Given the description of an element on the screen output the (x, y) to click on. 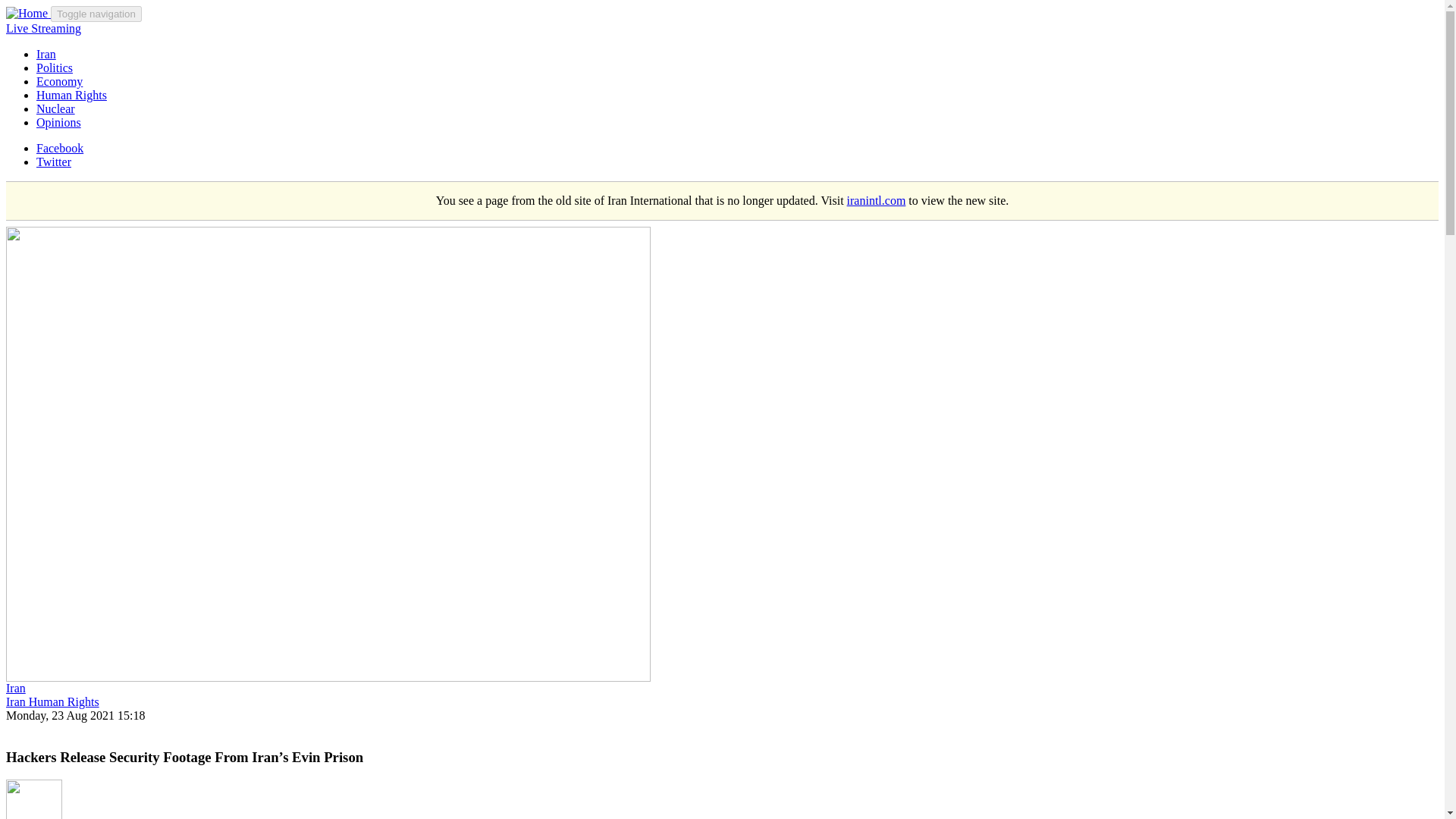
iranintl.com (876, 200)
Twitter (53, 161)
Iran Human Rights (52, 701)
Facebook (59, 147)
Human Rights (71, 94)
Opinions (58, 122)
Economy (59, 81)
Home (27, 12)
evinprison-1400-355355454.jpg (126, 251)
Nuclear (55, 108)
Toggle navigation (95, 13)
Iran (46, 53)
Politics (54, 67)
Live Streaming (43, 28)
